Given the description of an element on the screen output the (x, y) to click on. 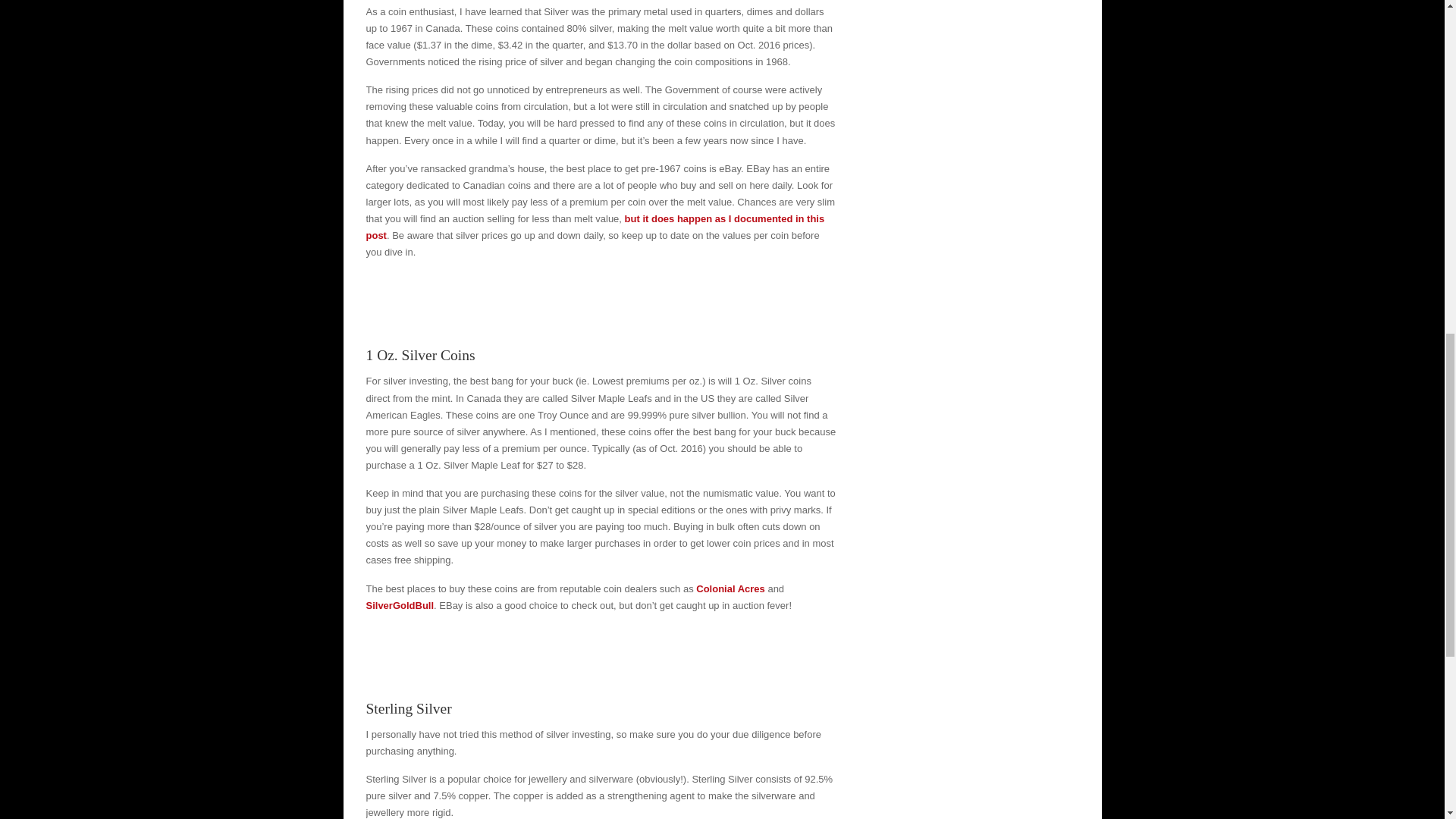
but it does happen as I documented in this post (594, 226)
SilverGoldBull (399, 604)
Colonial Acres (730, 588)
